Given the description of an element on the screen output the (x, y) to click on. 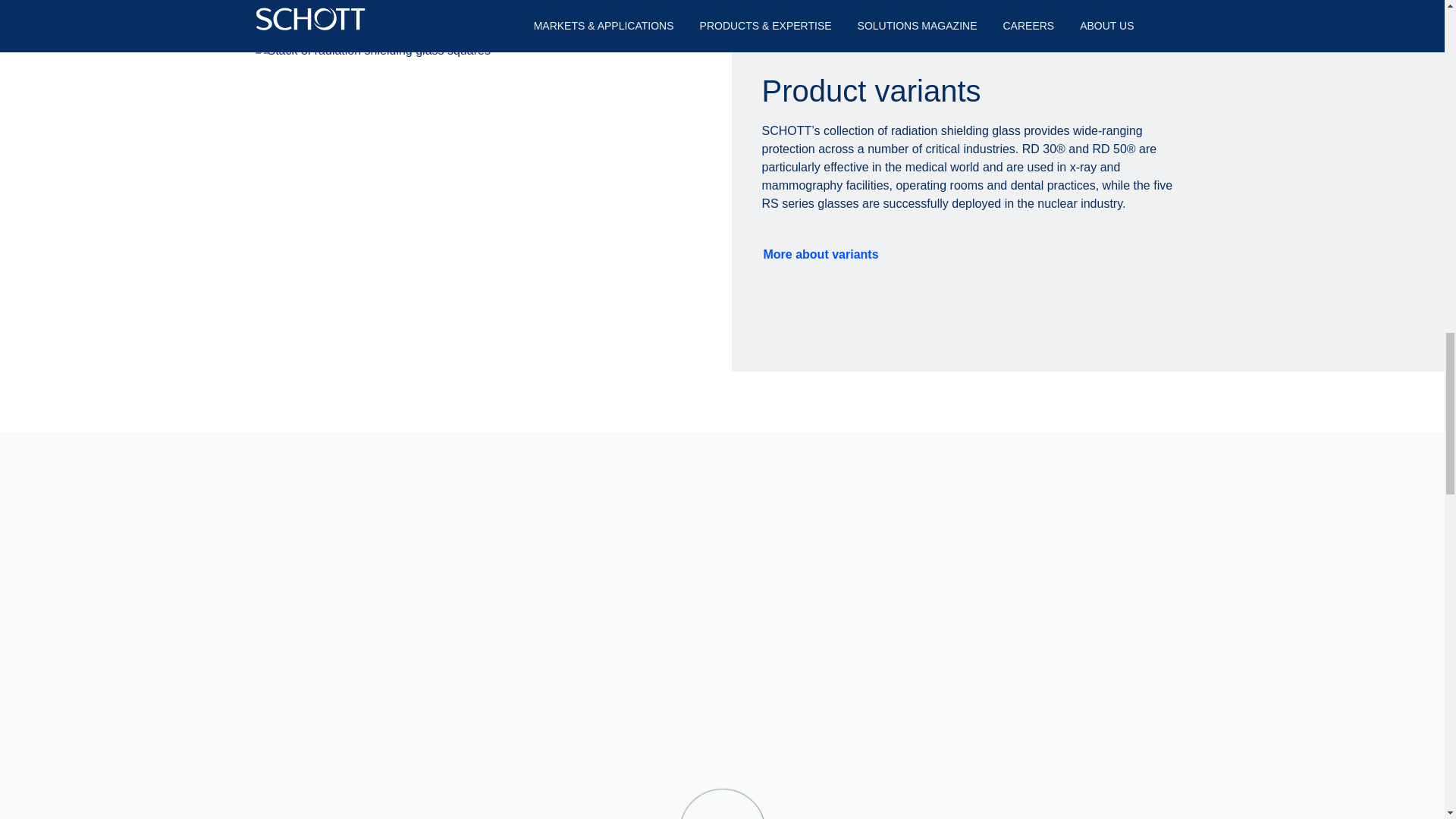
More scratch resistant and less flammable than acrylic. (1072, 693)
